Given the description of an element on the screen output the (x, y) to click on. 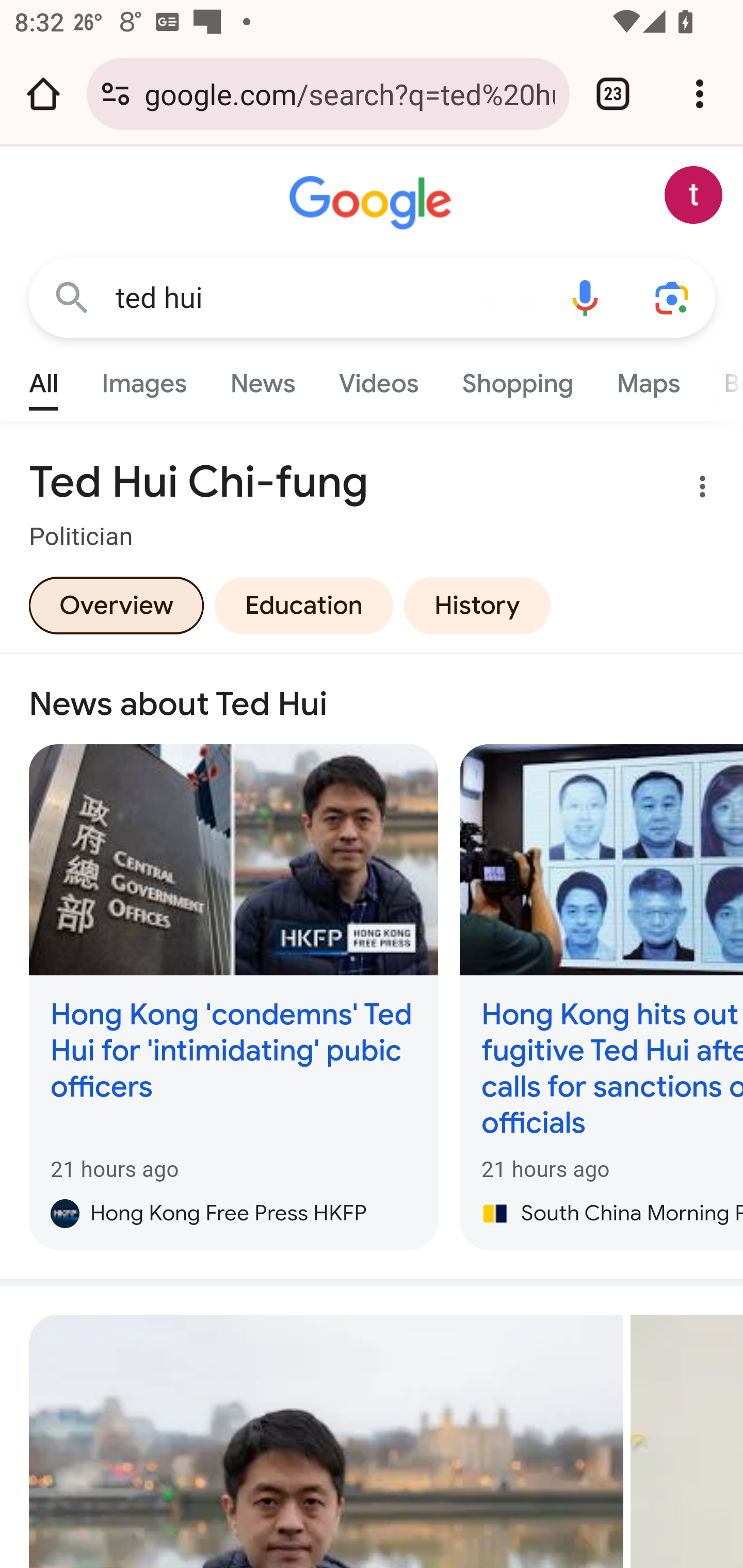
Open the home page (43, 93)
Connection is secure (115, 93)
Switch or close tabs (612, 93)
Customize and control Google Chrome (699, 93)
Google (372, 203)
Google Search (71, 296)
Search using your camera or photos (672, 296)
ted hui (328, 297)
Images (144, 378)
News (262, 378)
Videos (378, 378)
Shopping (516, 378)
Maps (647, 378)
More options (690, 489)
Overview (116, 605)
Education (302, 605)
History (476, 605)
